Given the description of an element on the screen output the (x, y) to click on. 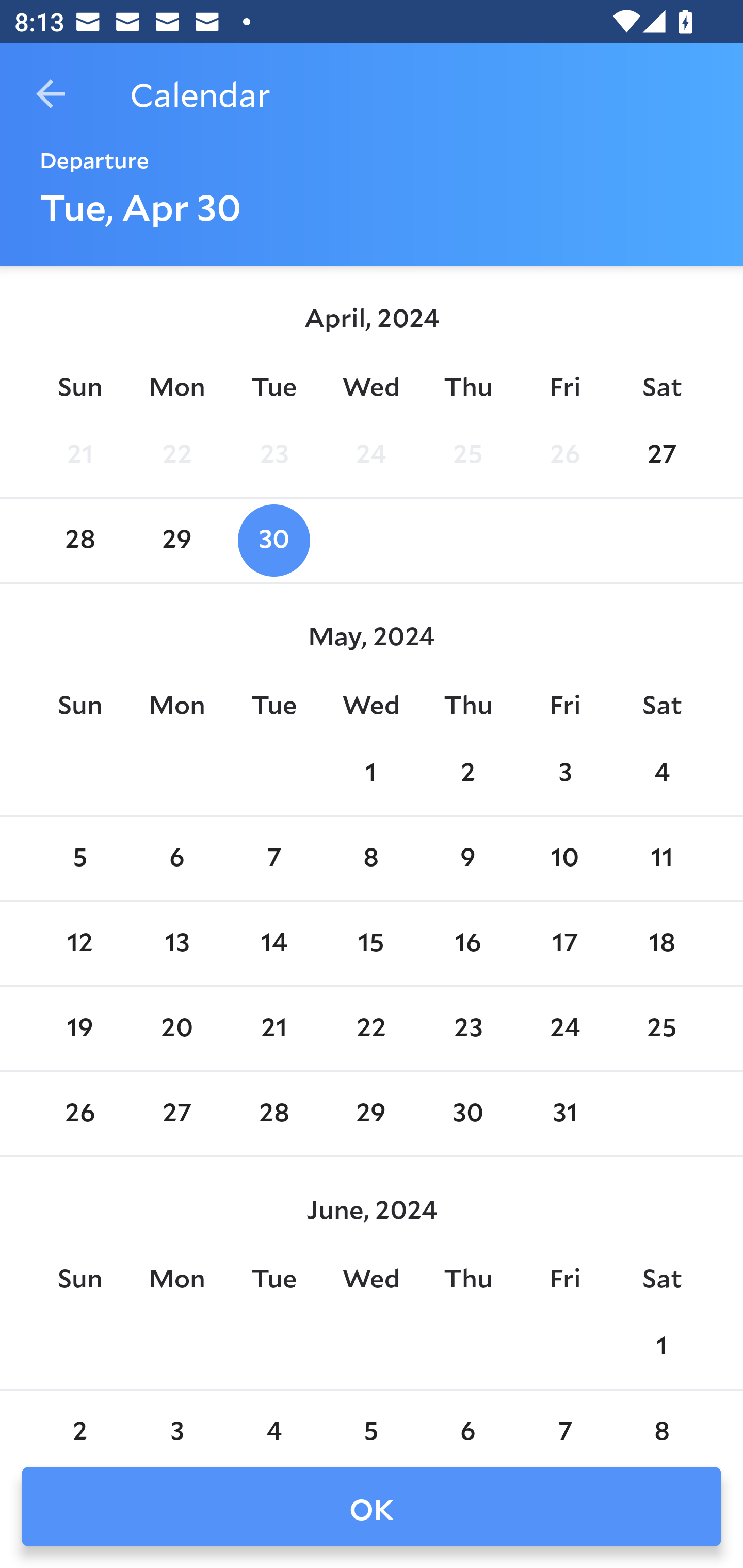
Navigate up (50, 93)
21 (79, 454)
22 (177, 454)
23 (273, 454)
24 (371, 454)
25 (467, 454)
26 (565, 454)
27 (661, 454)
28 (79, 540)
29 (177, 540)
30 (273, 540)
1 (371, 772)
2 (467, 772)
3 (565, 772)
4 (661, 772)
5 (79, 859)
6 (177, 859)
7 (273, 859)
8 (371, 859)
9 (467, 859)
10 (565, 859)
11 (661, 859)
12 (79, 943)
13 (177, 943)
14 (273, 943)
15 (371, 943)
16 (467, 943)
17 (565, 943)
18 (661, 943)
19 (79, 1028)
20 (177, 1028)
21 (273, 1028)
22 (371, 1028)
23 (467, 1028)
24 (565, 1028)
25 (661, 1028)
26 (79, 1114)
27 (177, 1114)
28 (273, 1114)
29 (371, 1114)
30 (467, 1114)
31 (565, 1114)
1 (661, 1346)
2 (79, 1420)
3 (177, 1420)
4 (273, 1420)
5 (371, 1420)
6 (467, 1420)
7 (565, 1420)
8 (661, 1420)
